Given the description of an element on the screen output the (x, y) to click on. 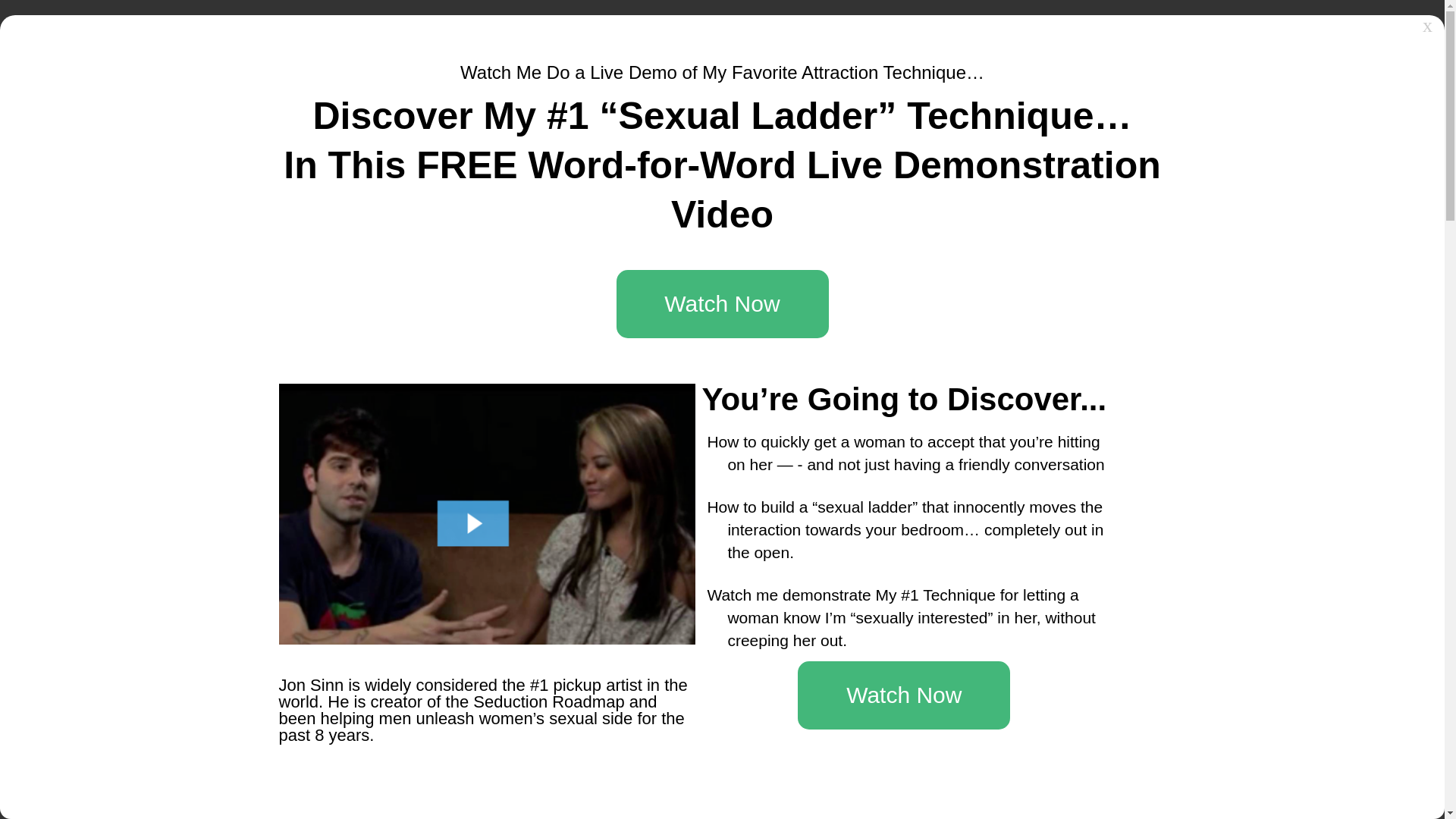
Share (609, 284)
CHRISTOPHER REID (445, 204)
FREE TRAINING CLASS (1075, 30)
DATING ADVICE BLOG (895, 30)
New? Start Here (1037, 108)
